Given the description of an element on the screen output the (x, y) to click on. 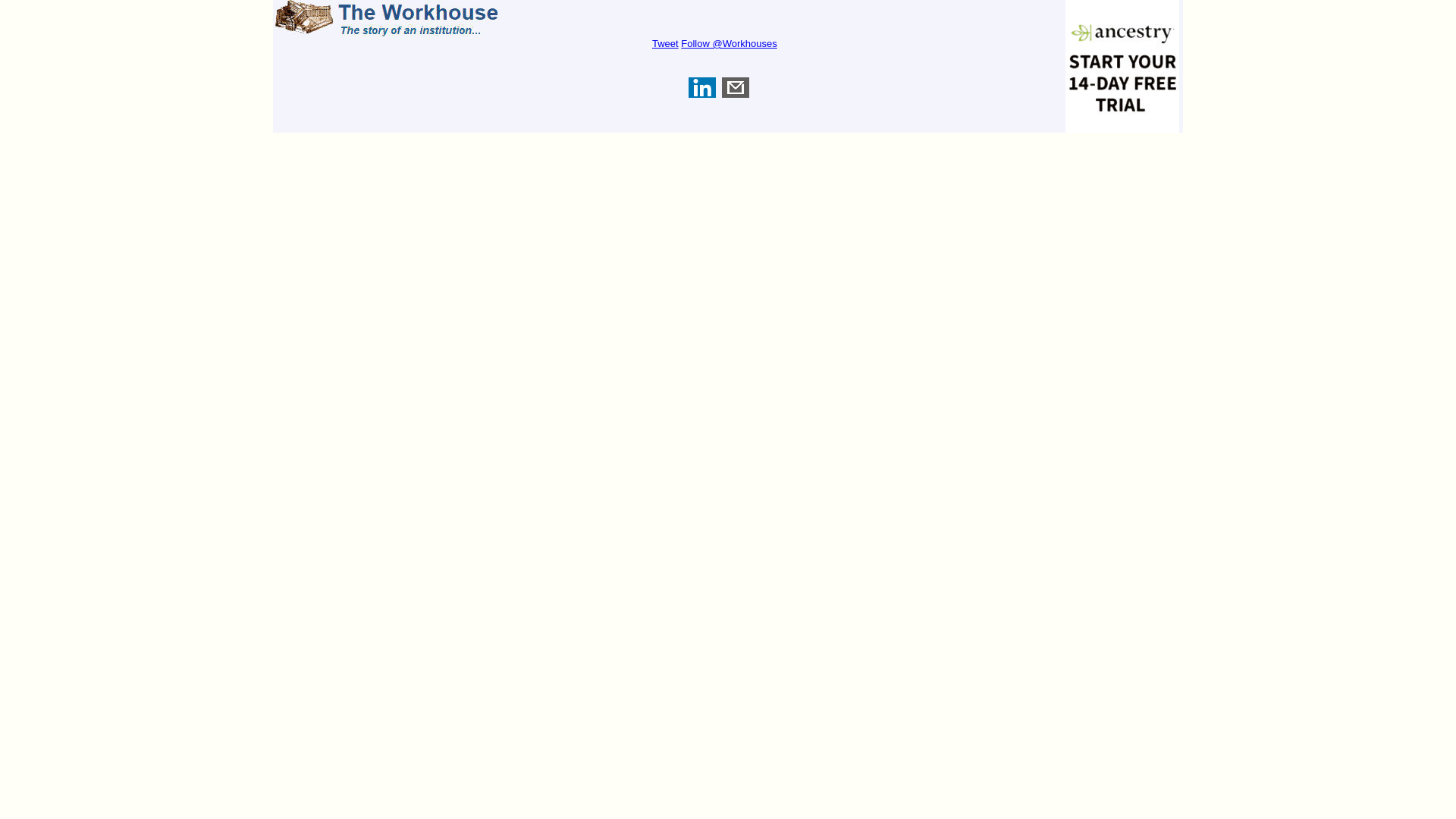
Tweet (665, 43)
